Given the description of an element on the screen output the (x, y) to click on. 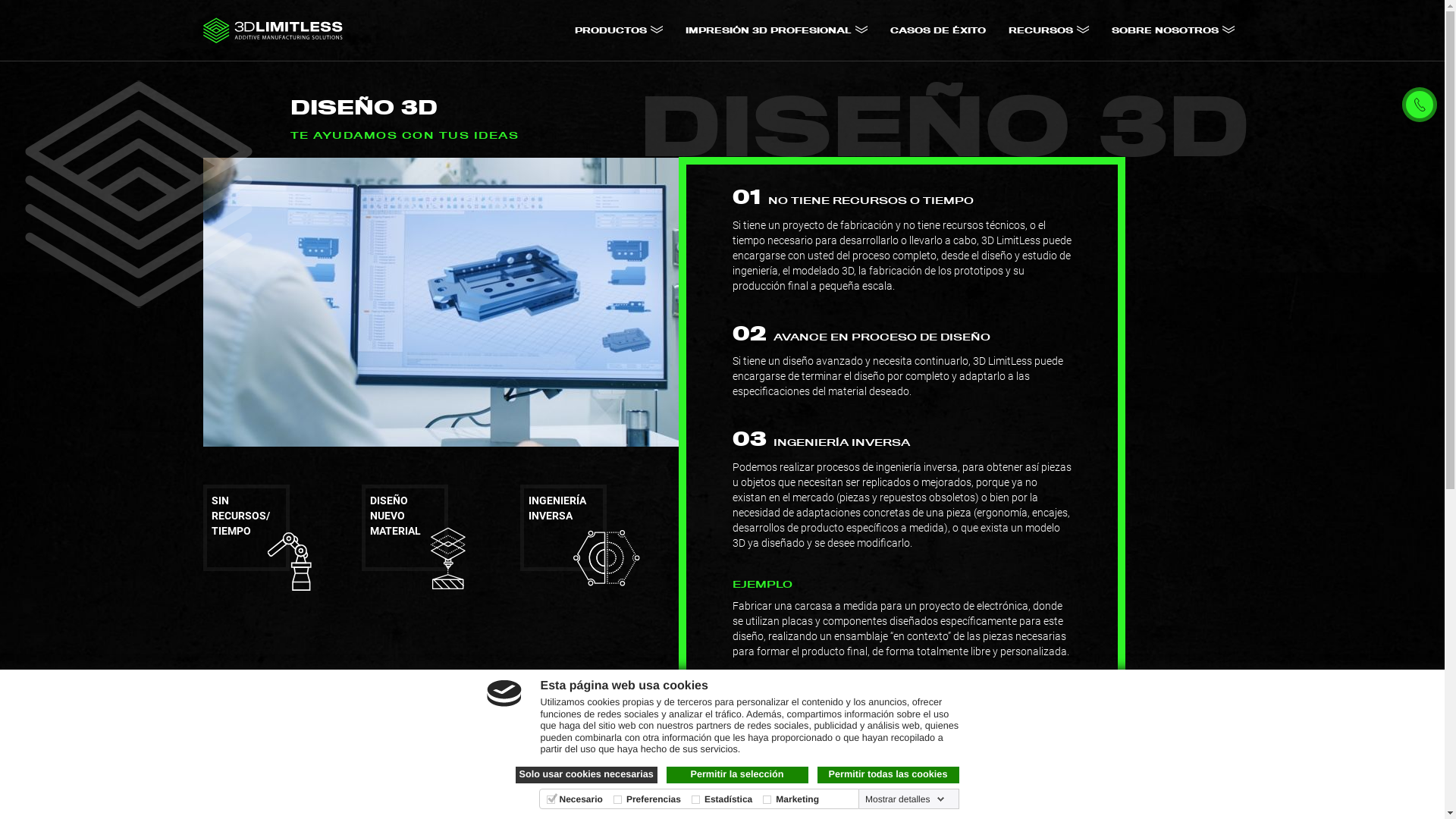
Mostrar detalles Element type: text (904, 799)
Permitir todas las cookies Element type: text (888, 774)
Solo usar cookies necesarias Element type: text (586, 774)
